Given the description of an element on the screen output the (x, y) to click on. 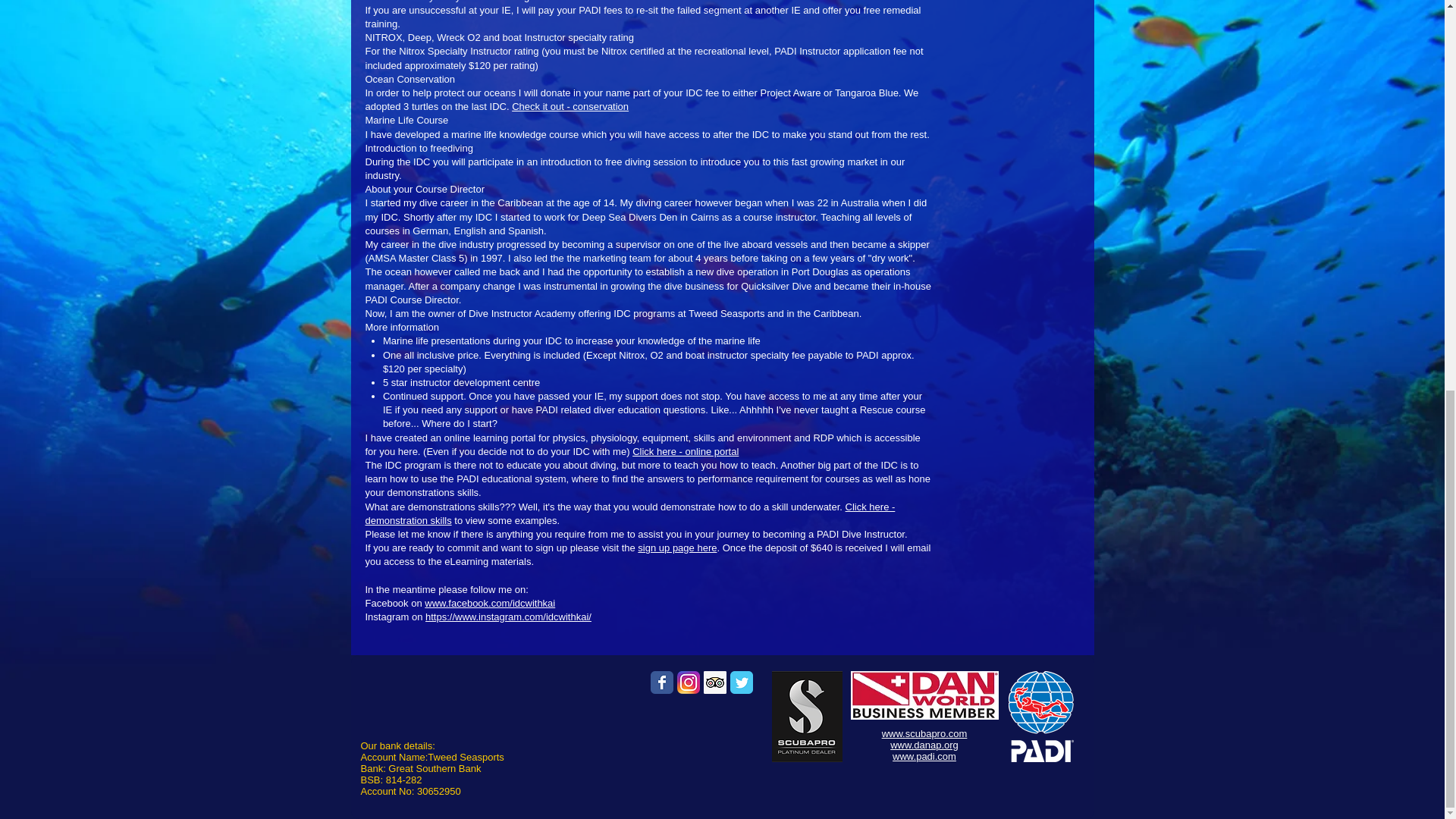
www.danap.org (923, 745)
www.scubapro.com (925, 733)
Embedded Content (700, 749)
DAN Asia Pacific Supporter (924, 694)
sign up page here (676, 547)
Click here - demonstration skills (630, 513)
Click here - online portal (684, 451)
Check it out - conservation (570, 106)
www.padi.com (924, 756)
